Given the description of an element on the screen output the (x, y) to click on. 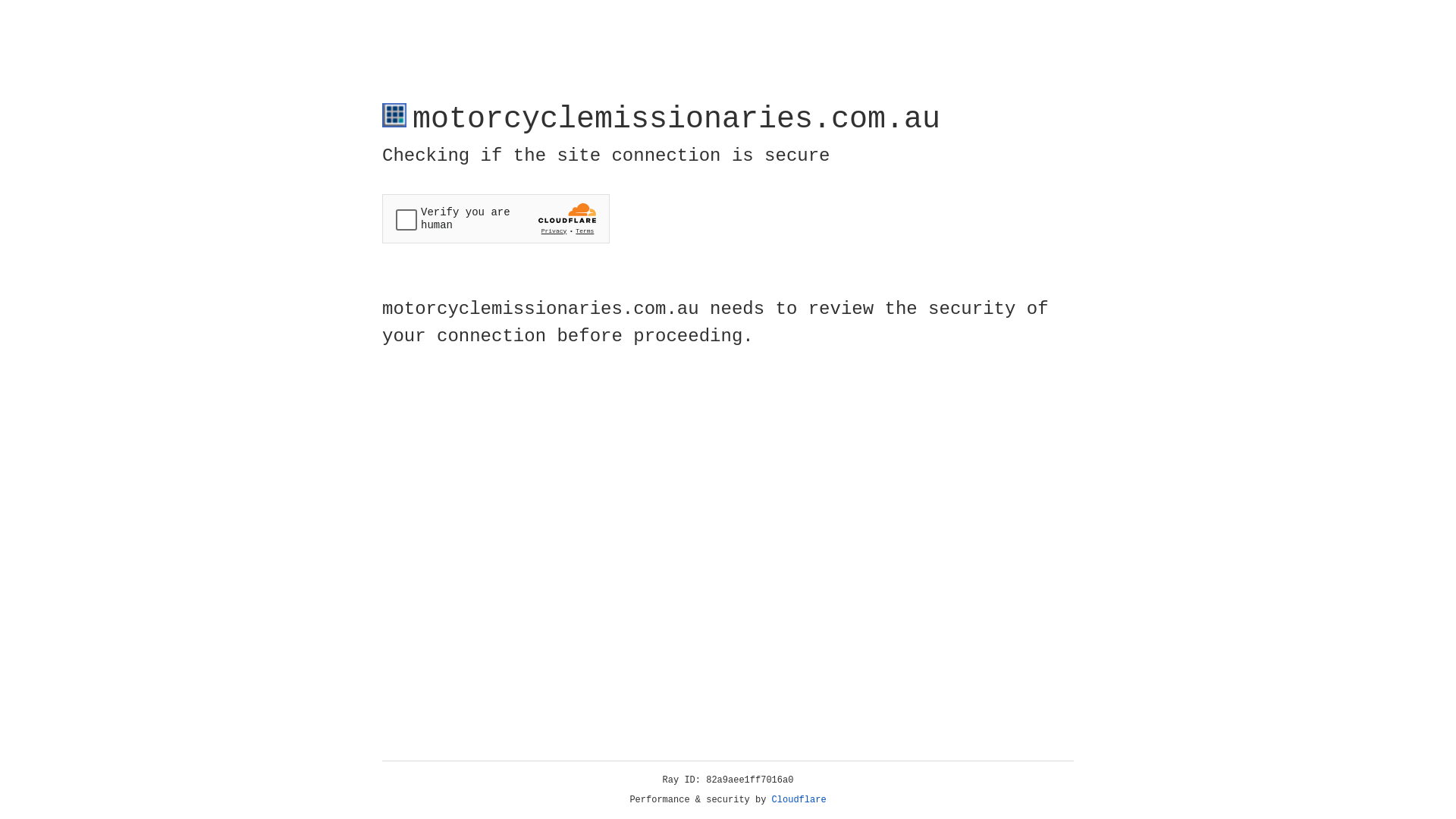
Widget containing a Cloudflare security challenge Element type: hover (495, 218)
Cloudflare Element type: text (798, 799)
